Given the description of an element on the screen output the (x, y) to click on. 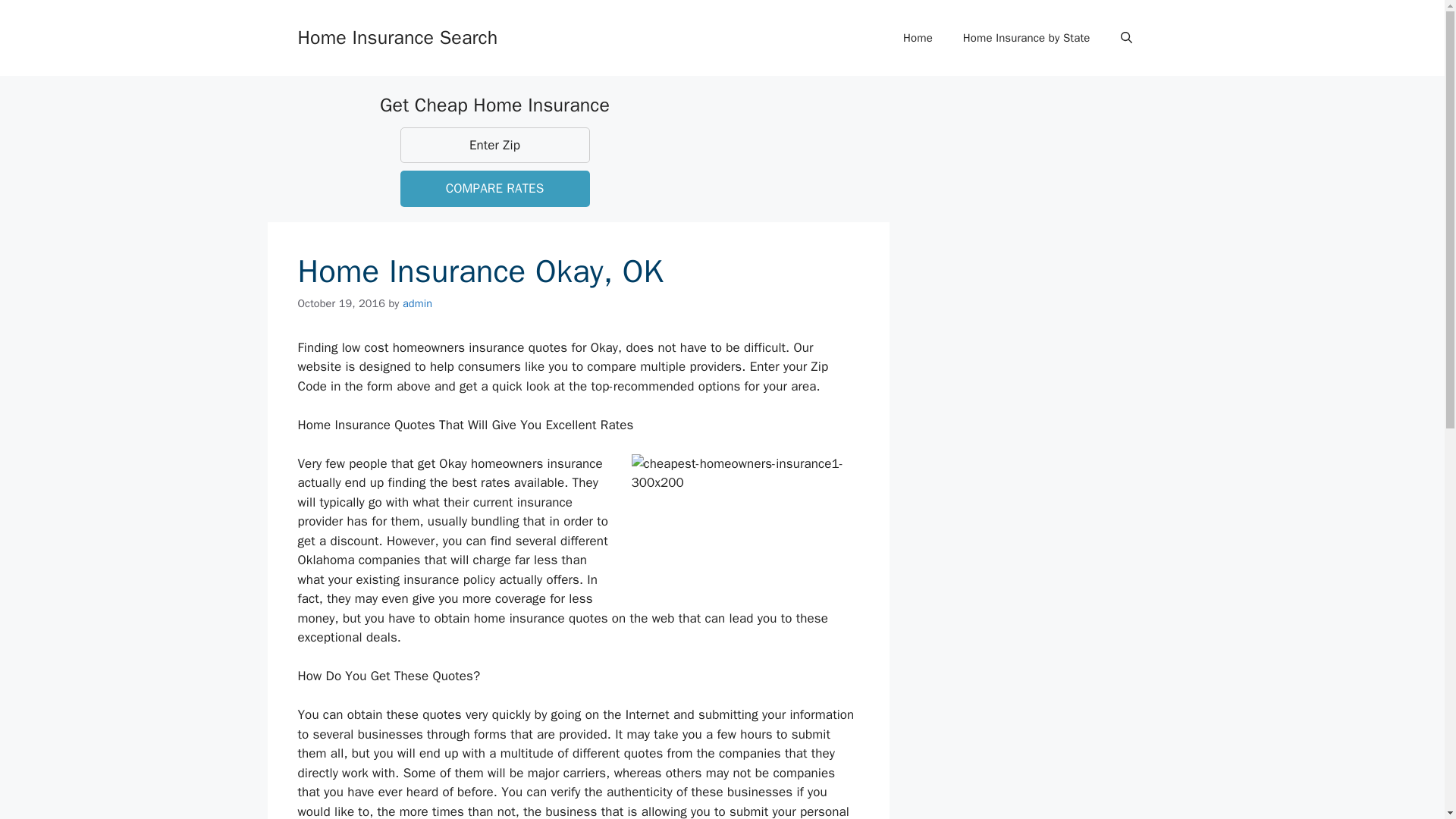
Enter Zip (494, 145)
Home (917, 37)
View all posts by admin (417, 303)
Home Insurance by State (1026, 37)
admin (417, 303)
COMPARE RATES (494, 188)
Home Insurance Search (397, 37)
